Given the description of an element on the screen output the (x, y) to click on. 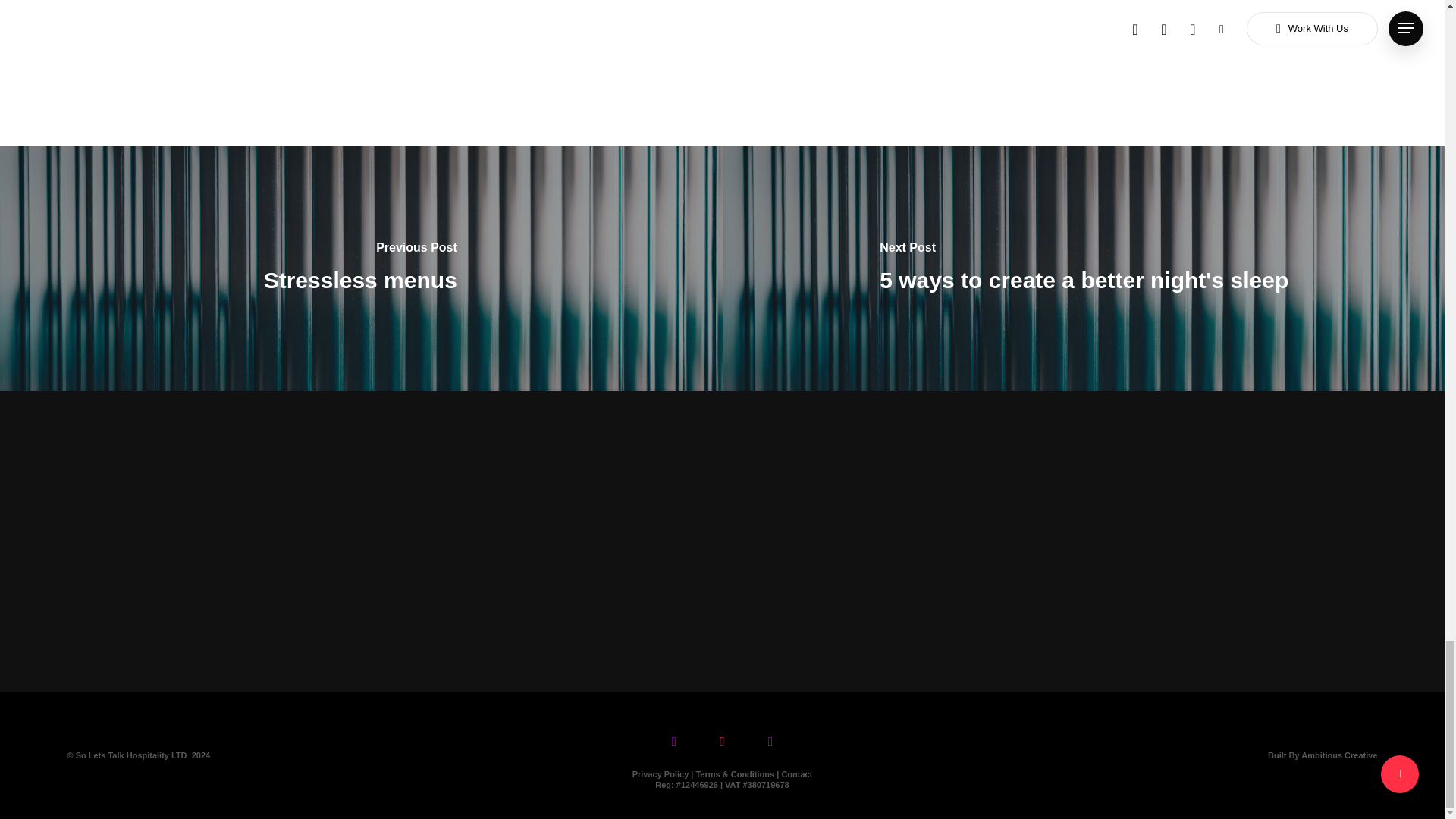
Arron Smallman (631, 36)
Contact (796, 773)
Ambitious Creative (1339, 755)
Privacy Policy (659, 773)
So Lets Talk (99, 755)
